Given the description of an element on the screen output the (x, y) to click on. 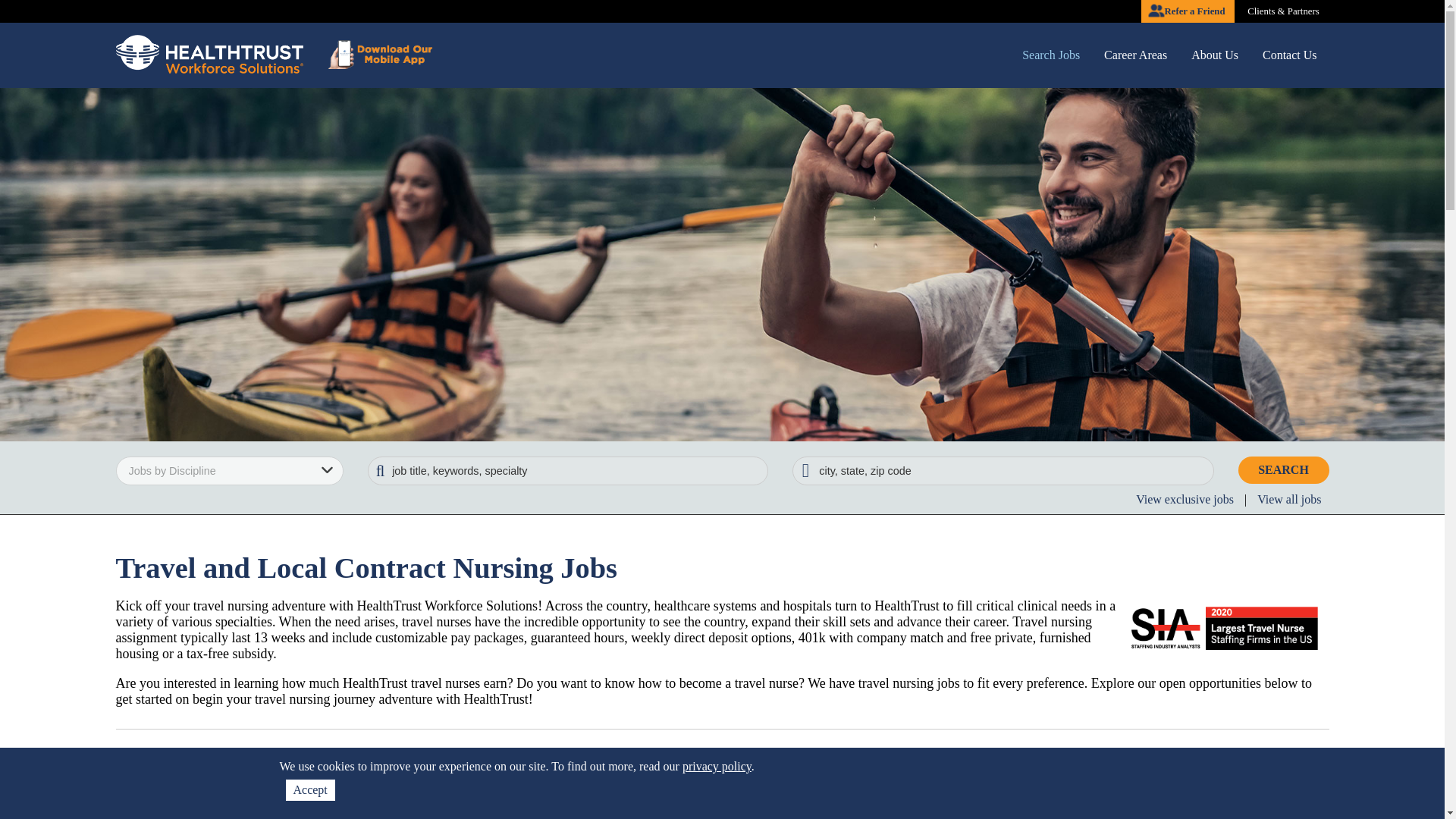
SEARCH (1284, 470)
Quick Apply (1266, 807)
privacy policy (716, 766)
View exclusive jobs (1184, 499)
Refer a Friend (1187, 11)
View all jobs (1288, 499)
Contact Us (1289, 54)
Search Jobs (1051, 54)
Career Areas (1135, 54)
Accept (309, 789)
Remove (170, 812)
About Us (1214, 54)
